Given the description of an element on the screen output the (x, y) to click on. 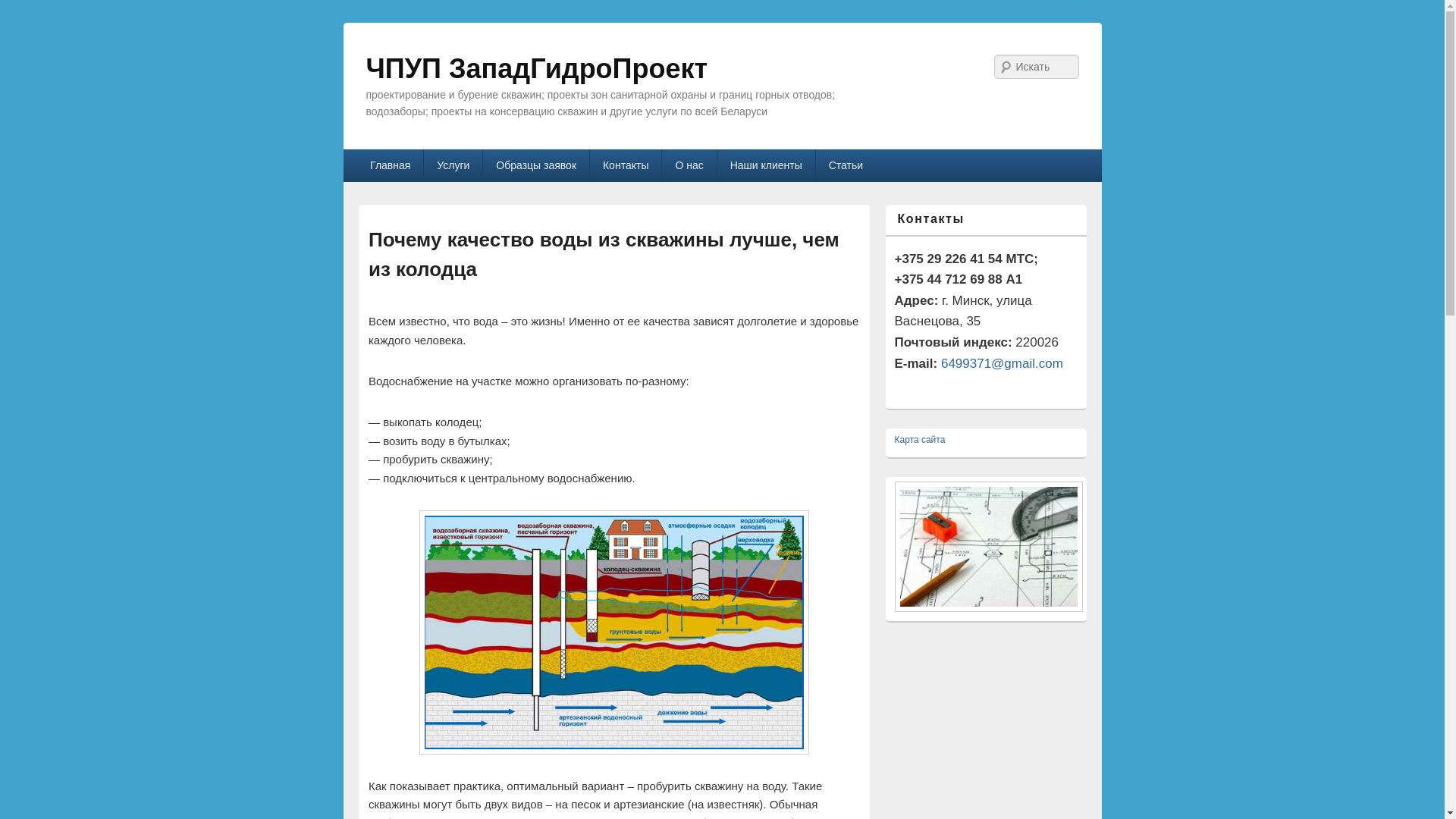
Skip to secondary content Element type: text (430, 157)
Skip to primary content Element type: text (423, 157)
proektirovanie Element type: hover (988, 546)
6499371@gmail.com Element type: text (1002, 363)
